Given the description of an element on the screen output the (x, y) to click on. 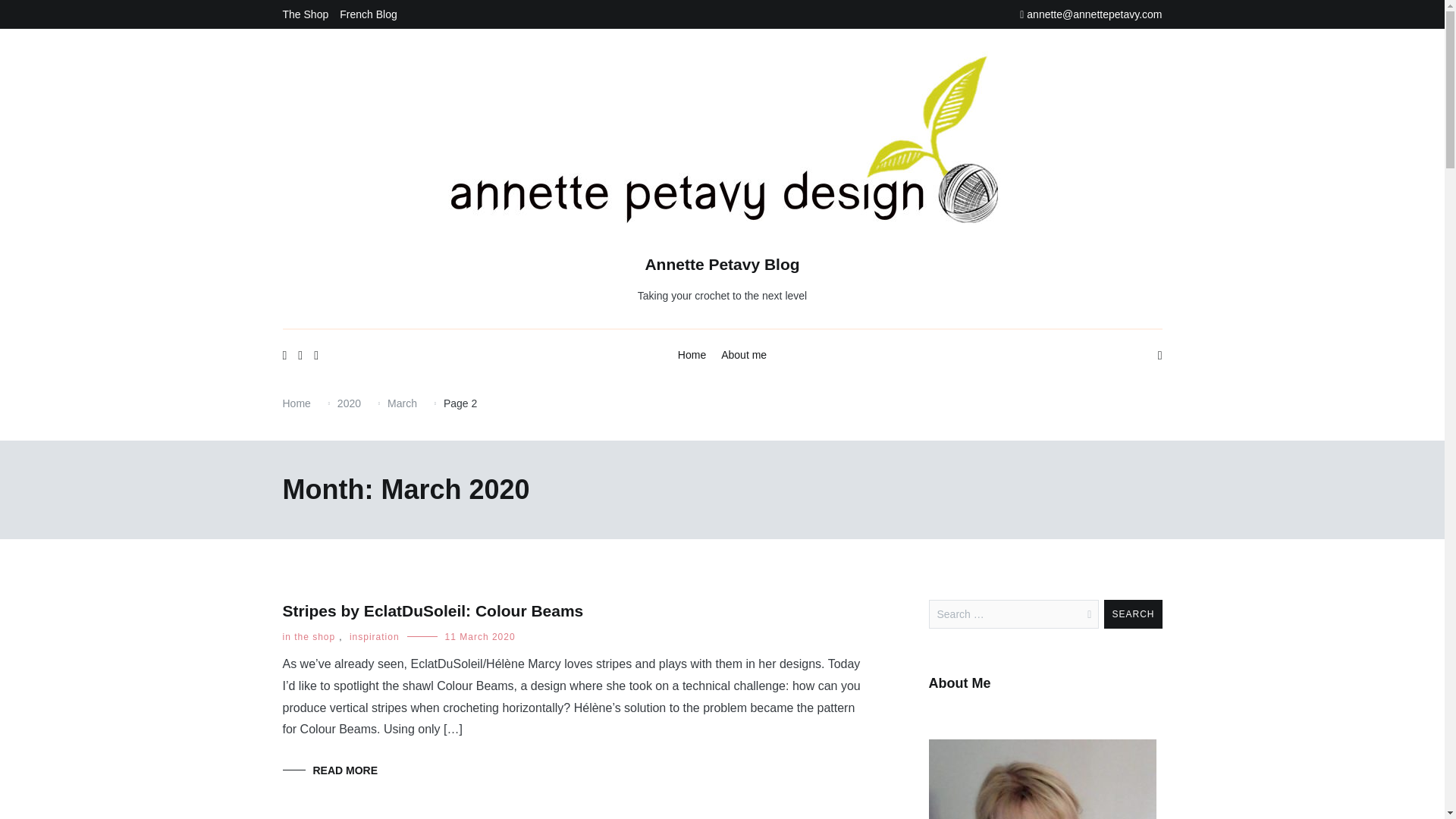
11 March 2020 (480, 636)
Stripes by EclatDuSoleil: Colour Beams (432, 610)
READ MORE (329, 770)
The Shop (305, 14)
About me (743, 355)
Search (1132, 613)
Annette Petavy Blog (722, 263)
Search (1132, 613)
French Blog (367, 14)
inspiration (373, 636)
Home (296, 403)
March (401, 403)
2020 (349, 403)
in the shop (308, 636)
